Given the description of an element on the screen output the (x, y) to click on. 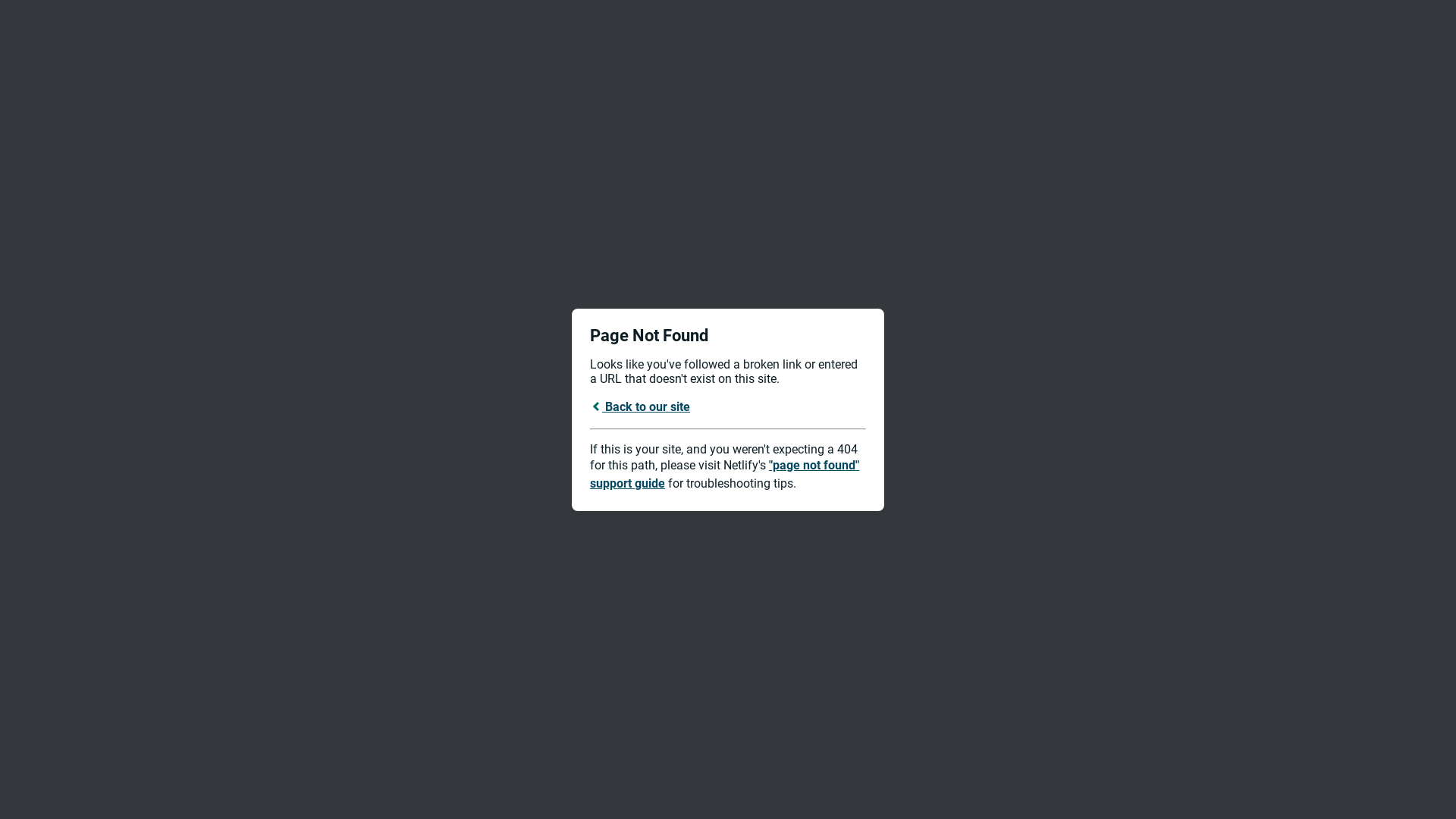
Back to our site Element type: text (639, 405)
"page not found" support guide Element type: text (724, 474)
